Given the description of an element on the screen output the (x, y) to click on. 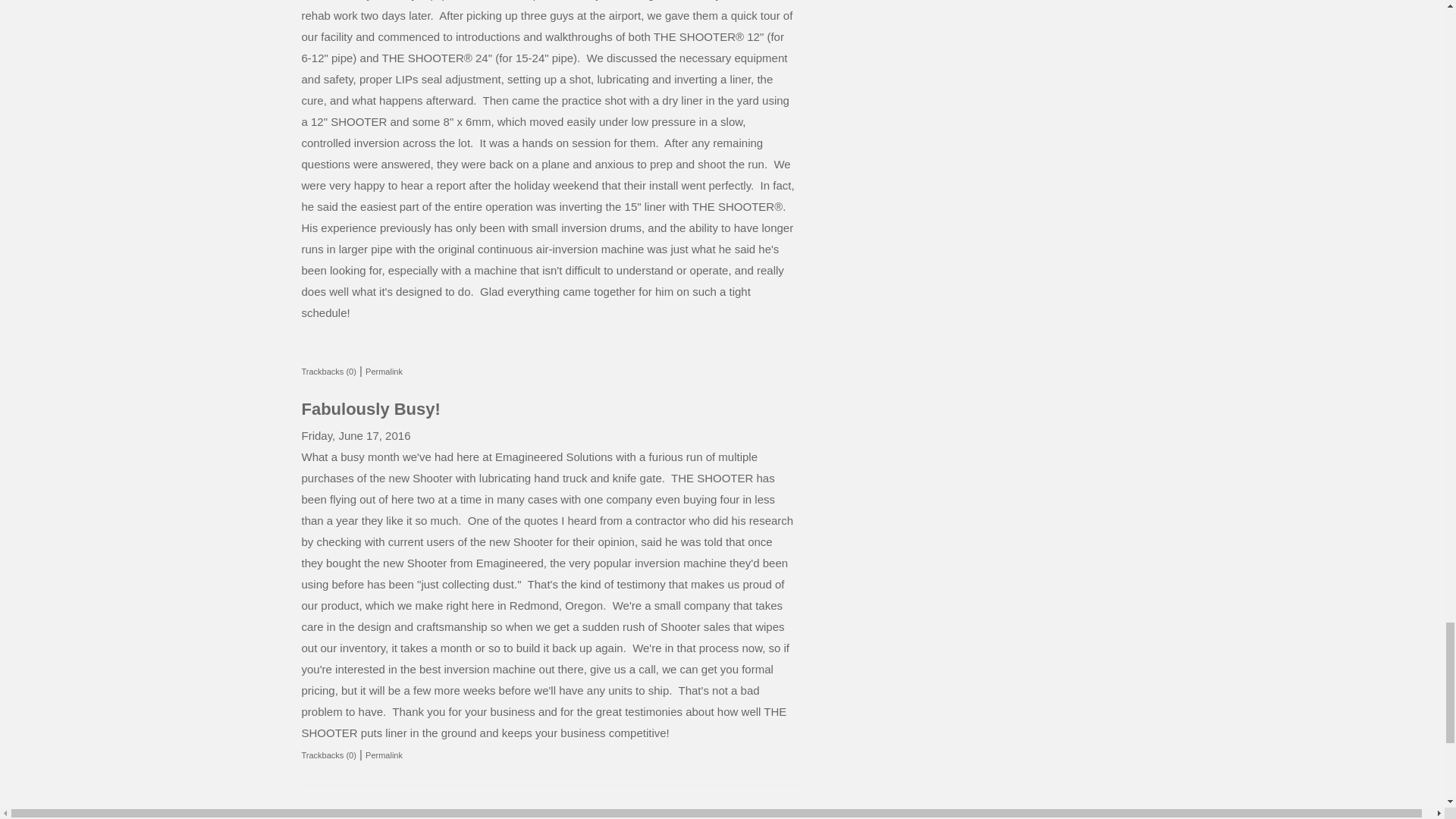
Permalink (384, 370)
Fabulously Busy! (371, 408)
Fabulously Busy! (371, 408)
